Given the description of an element on the screen output the (x, y) to click on. 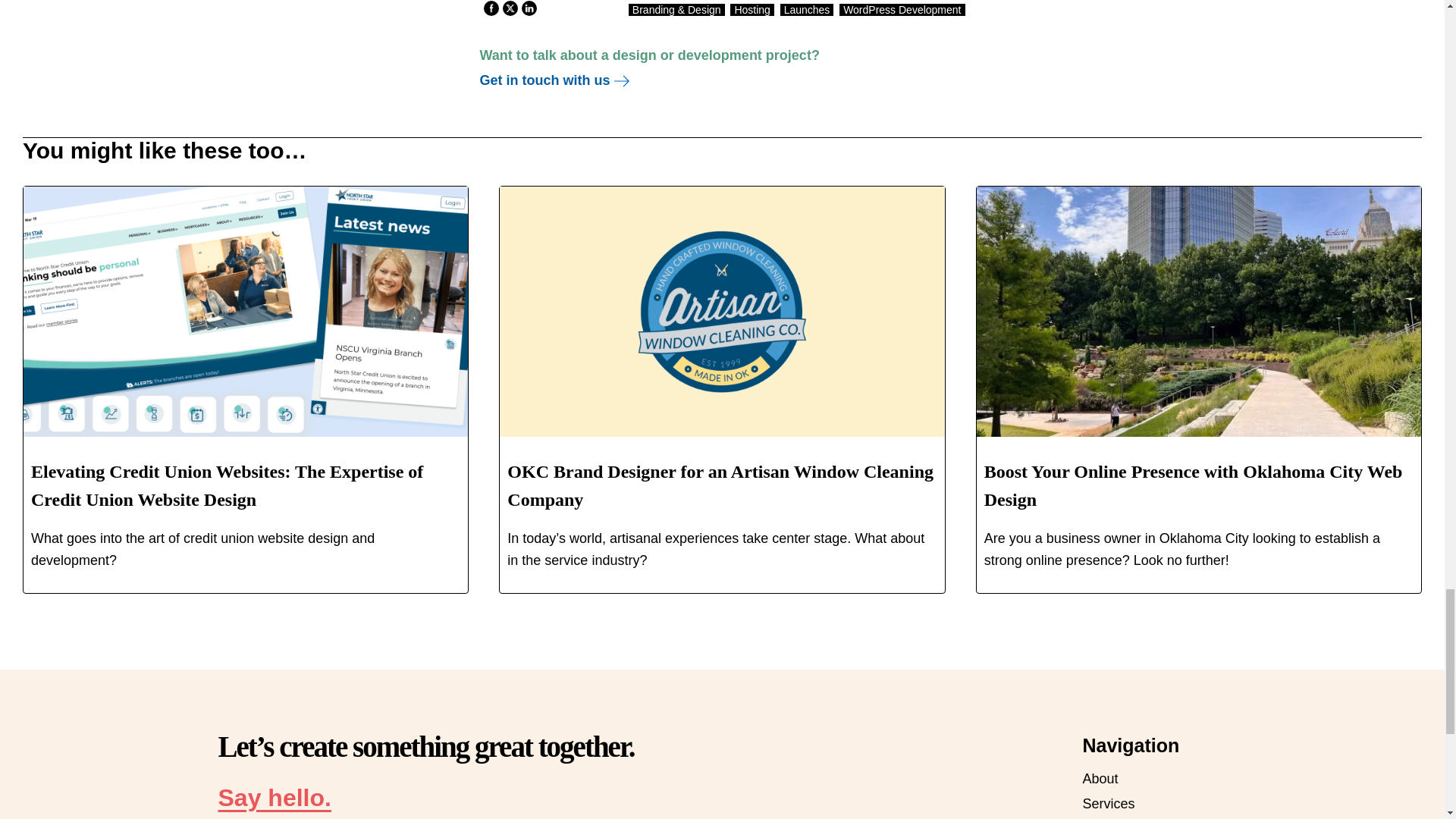
Facebook (490, 8)
Boost Your Online Presence with Oklahoma City Web Design (1193, 485)
Launches (807, 9)
About (1100, 779)
Hosting (751, 9)
Get in touch with us (553, 79)
OKC Brand Designer for an Artisan Window Cleaning Company (719, 485)
WordPress Development (901, 9)
Twitter (509, 8)
LinkedIn (528, 8)
Say hello. (274, 797)
Services (1109, 803)
